Given the description of an element on the screen output the (x, y) to click on. 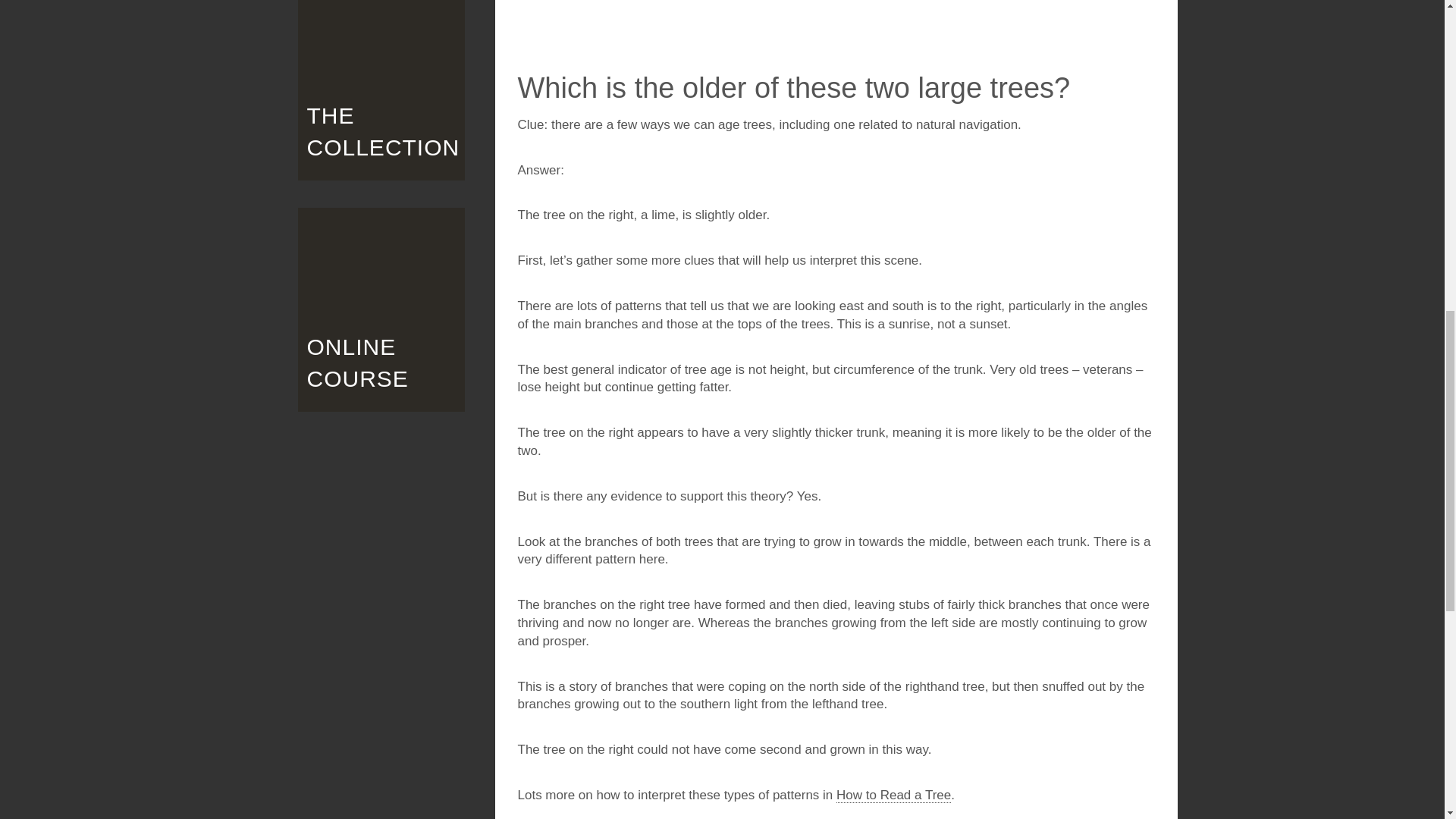
How to Read a Tree (892, 795)
ONLINE COURSE (380, 309)
THE COLLECTION (380, 90)
